Given the description of an element on the screen output the (x, y) to click on. 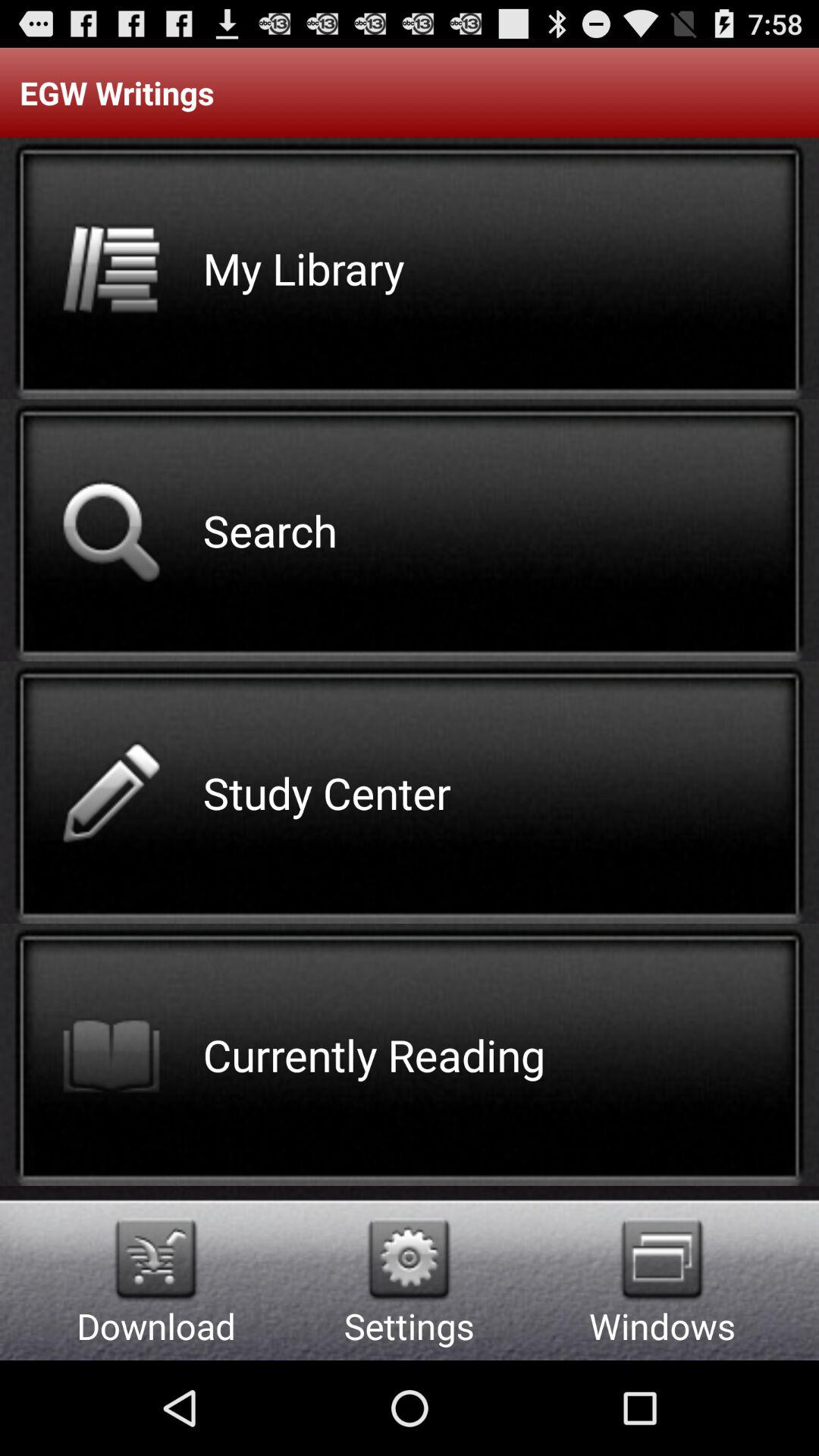
open the menu up in a new window (662, 1258)
